Given the description of an element on the screen output the (x, y) to click on. 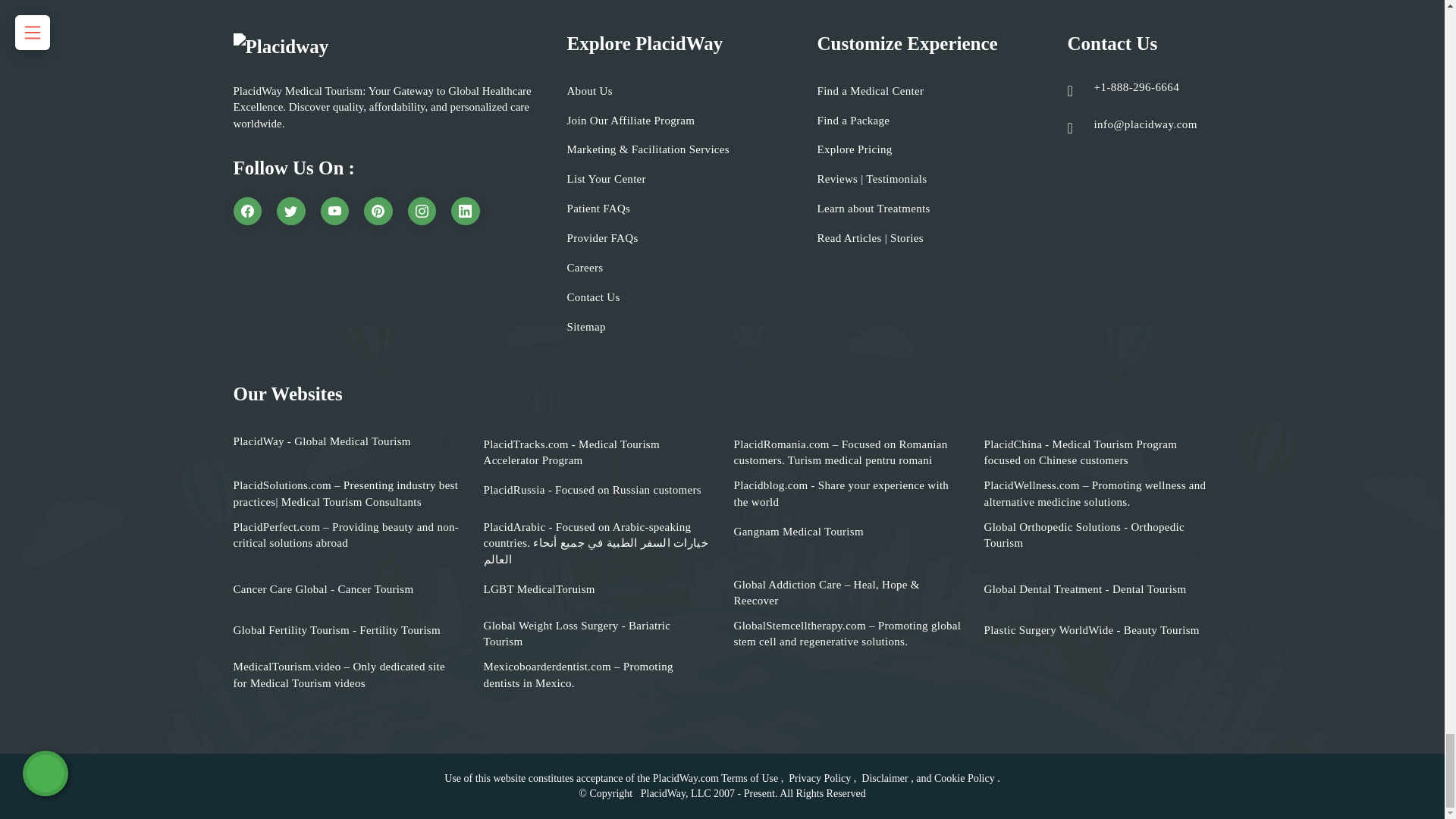
Placidway's Twitter Account (290, 211)
PlacidRussia - Focused on Russian customers (592, 489)
Global Orthopedic Solutions - Orthopedic Tourism (1097, 535)
PlacidWay - Global Medical Tourism (321, 441)
Placidway's Linkedin Account (465, 211)
Placidblog.com - Share your experience with the world (846, 493)
Gangnam Medical Tourism (798, 531)
PlacidTracks.com - Medical Tourism Accelerator Program (597, 452)
Placidway's facebook Account (247, 211)
Placidway's Pinterest Account (378, 211)
Placidway's Instagram Account (421, 211)
Cancer Care Global - Cancer Tourism (322, 589)
Placidway's Youtube Account (334, 211)
